Given the description of an element on the screen output the (x, y) to click on. 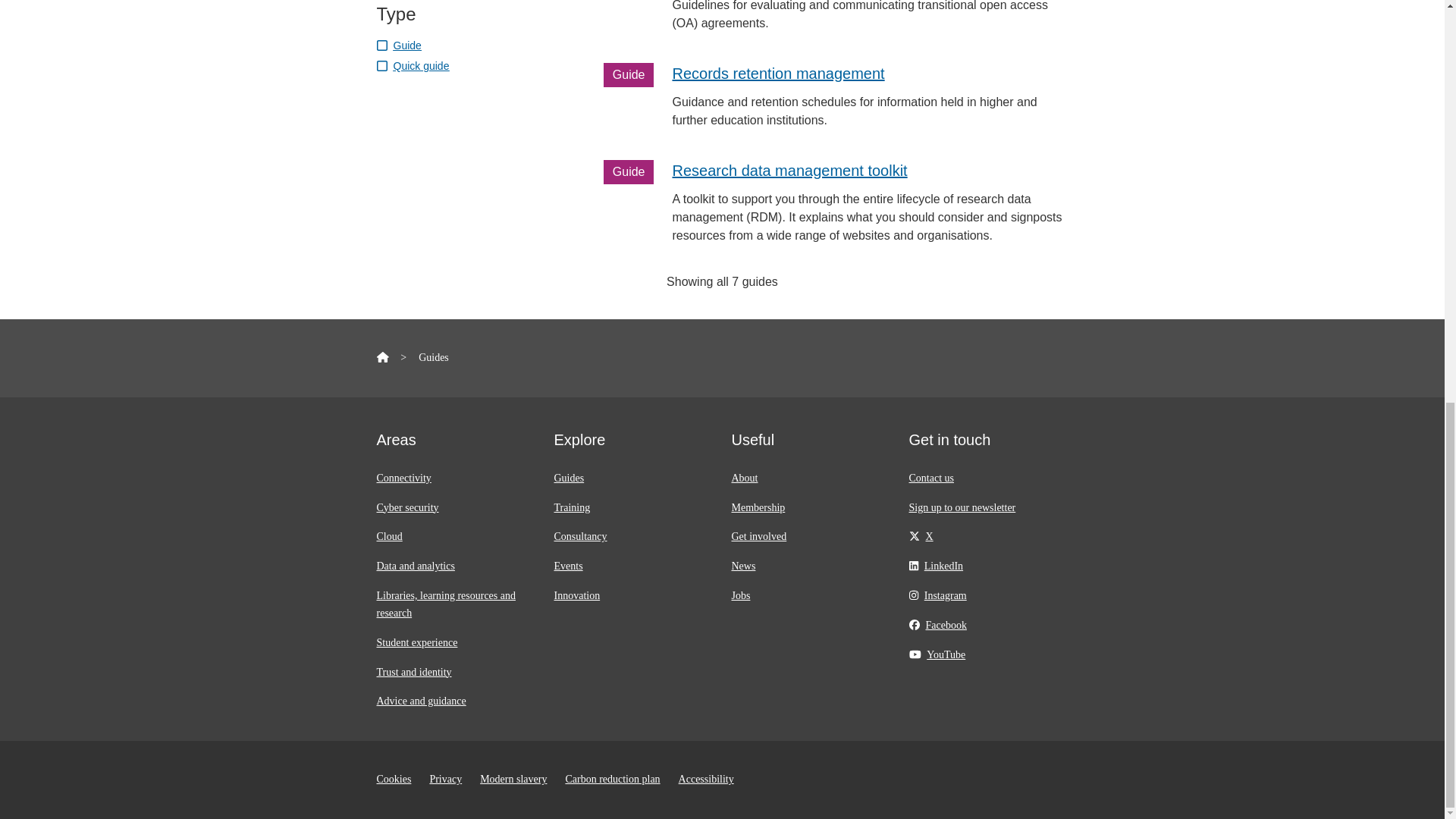
Data and analytics (414, 565)
Cyber security (406, 507)
Quick guide (411, 65)
Records retention management (777, 73)
Research data management toolkit (789, 170)
Libraries, learning resources and research (445, 604)
Connectivity (402, 478)
Guide (397, 44)
Cloud (388, 536)
Jisc homepage (381, 357)
